Given the description of an element on the screen output the (x, y) to click on. 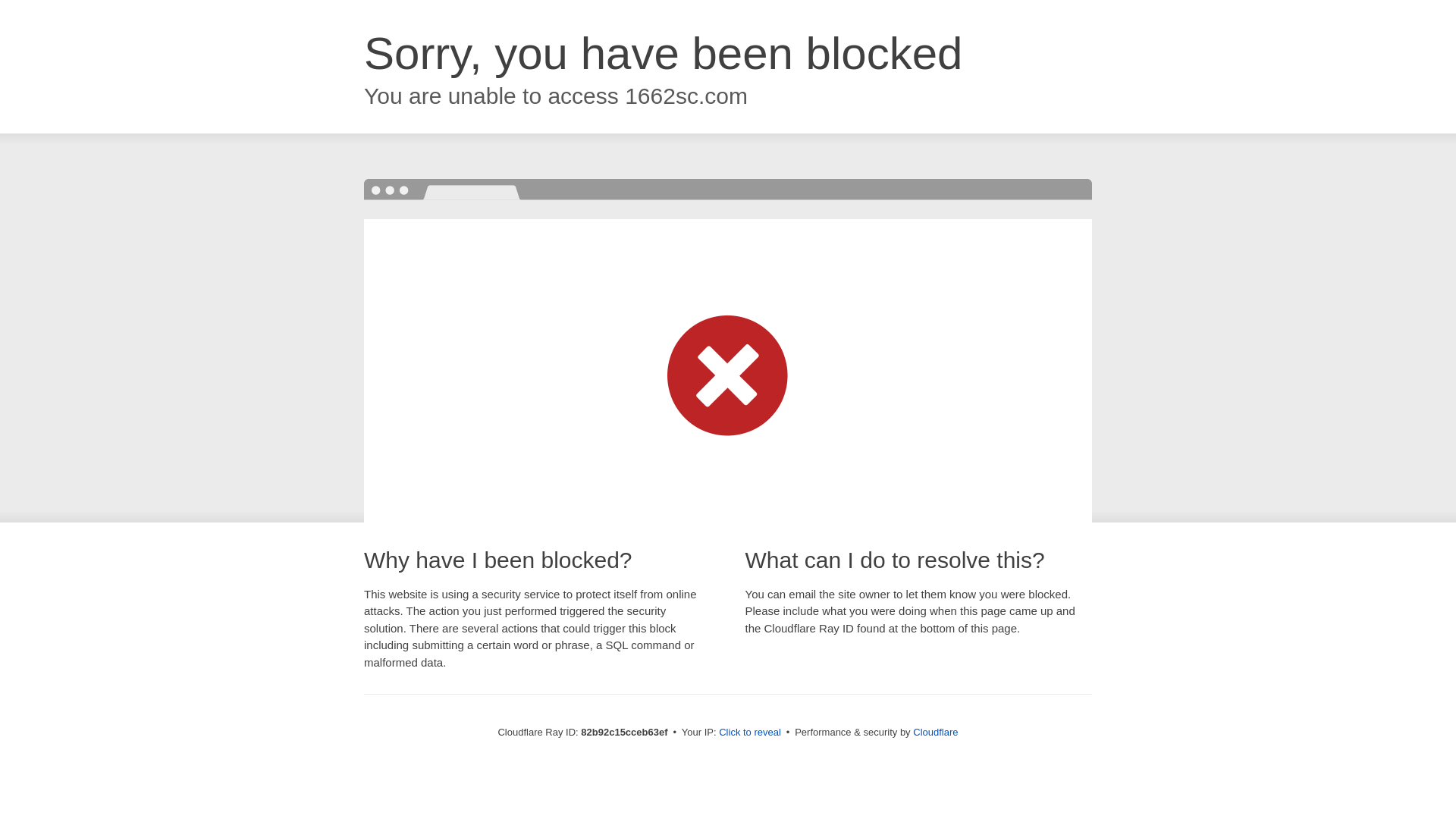
Cloudflare Element type: text (935, 731)
Click to reveal Element type: text (749, 732)
